Given the description of an element on the screen output the (x, y) to click on. 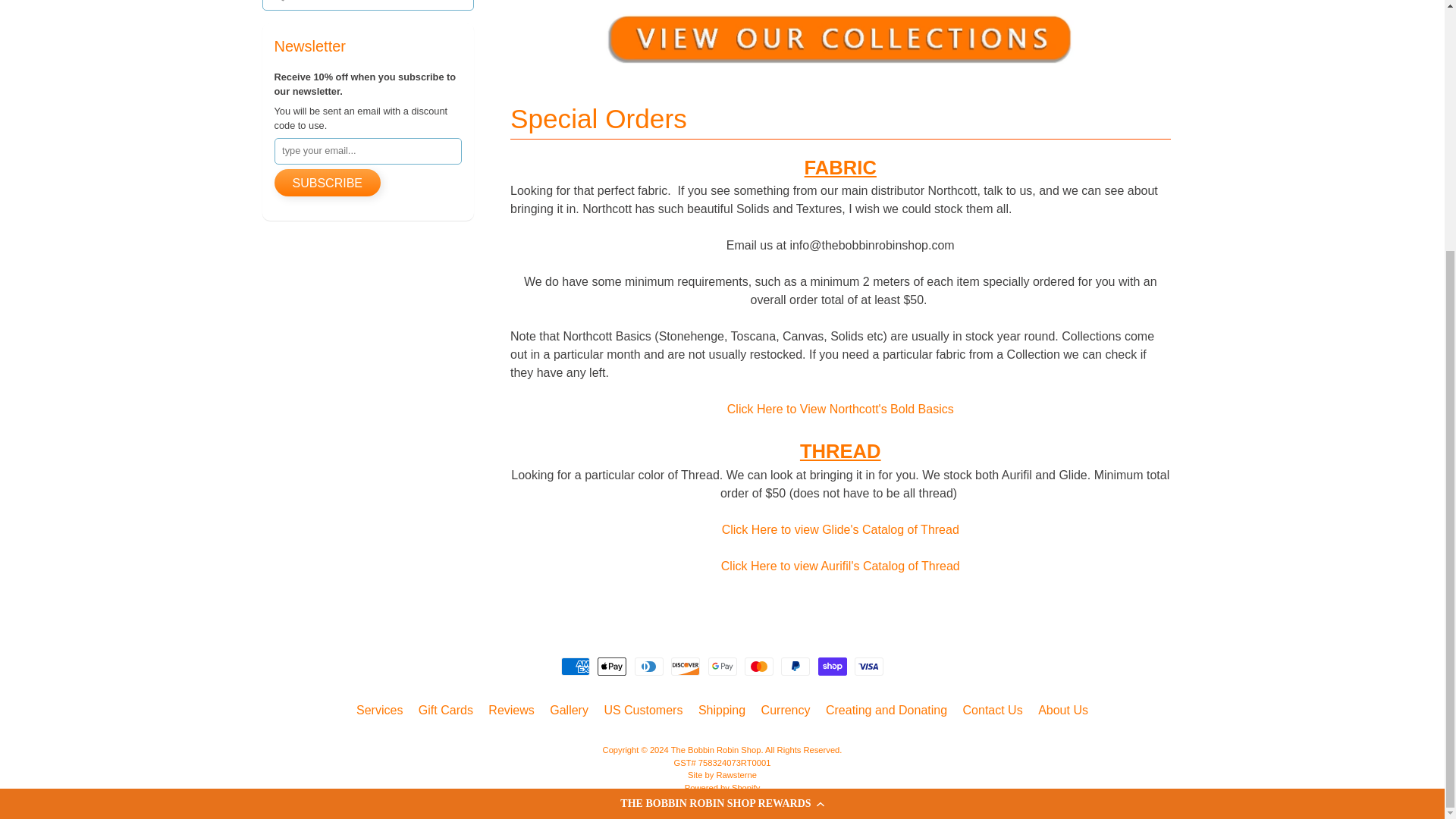
Visa (868, 666)
Northcott Bold Basics (839, 408)
Glide Top Thread (840, 529)
PayPal (794, 666)
Discover (685, 666)
Aurifil  (839, 565)
Shop Pay (832, 666)
American Express (574, 666)
Shopify theme by Rawsterne (722, 774)
Apple Pay (611, 666)
